Given the description of an element on the screen output the (x, y) to click on. 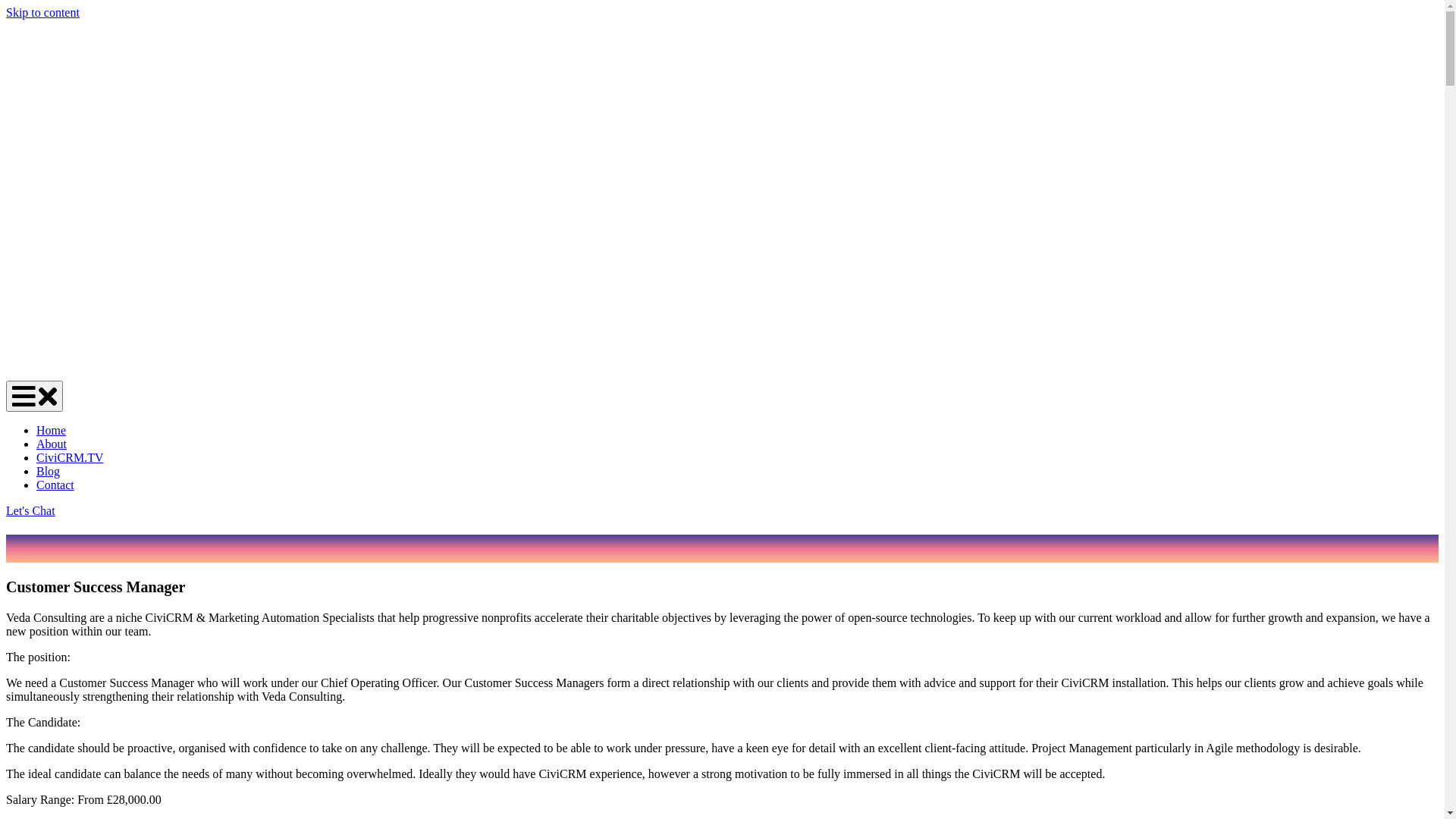
About Element type: text (51, 443)
Home Element type: text (50, 429)
Let's Chat Element type: text (30, 510)
Blog Element type: text (47, 470)
CiviCRM.TV Element type: text (69, 457)
Contact Element type: text (55, 484)
Skip to content Element type: text (42, 12)
